Given the description of an element on the screen output the (x, y) to click on. 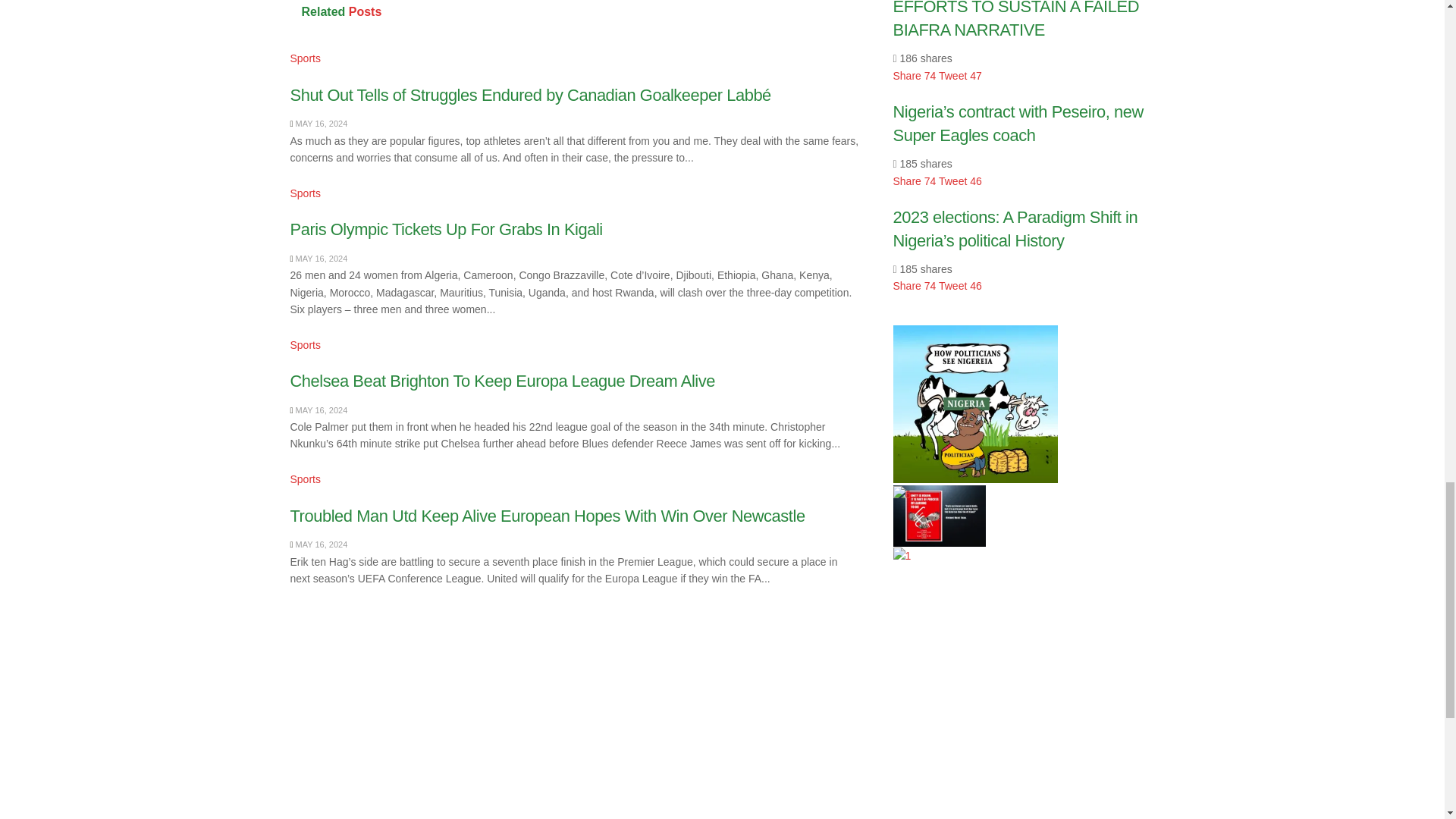
6 (902, 494)
1 (902, 555)
4 (975, 404)
2 (939, 516)
